Given the description of an element on the screen output the (x, y) to click on. 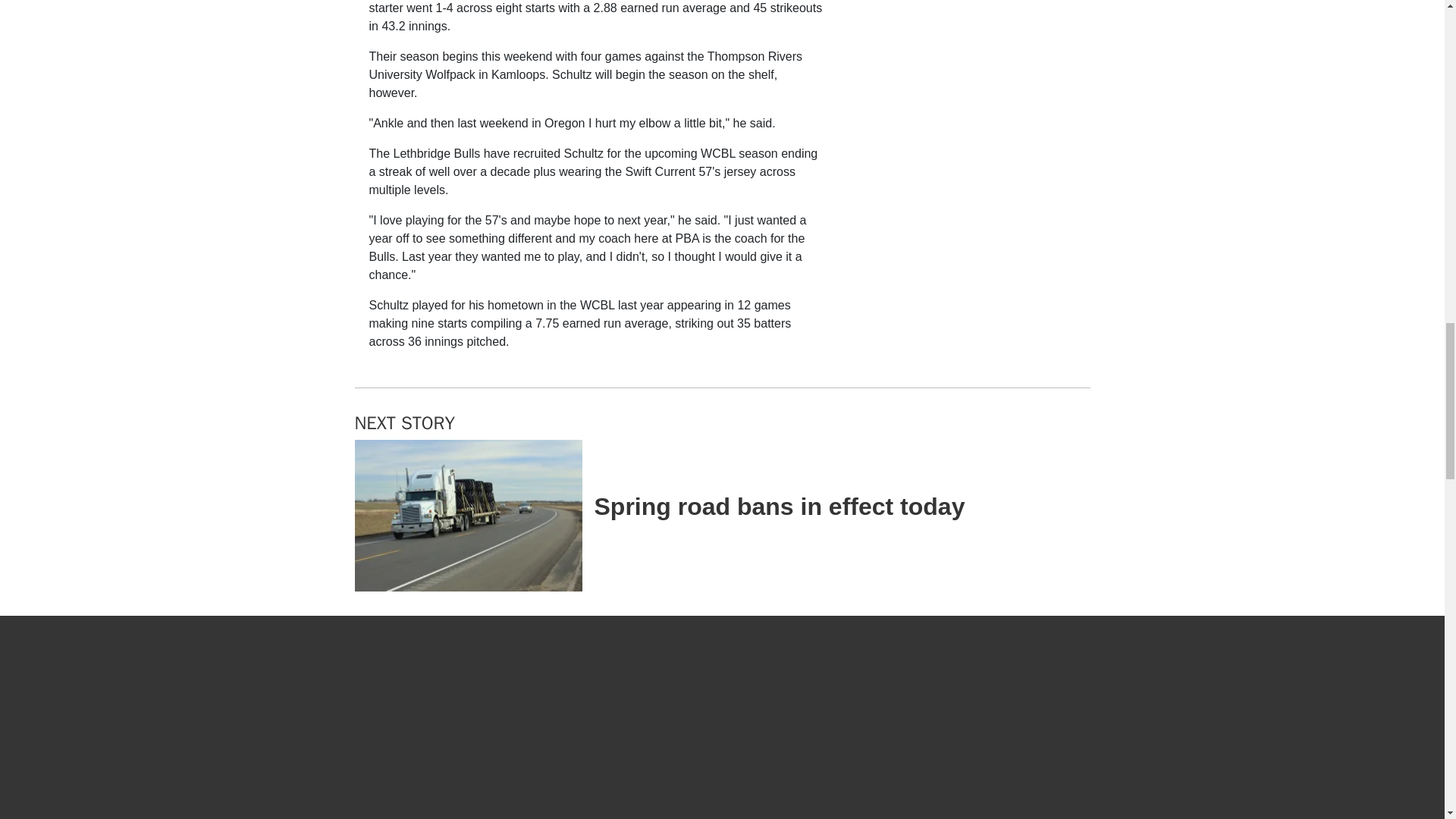
3rd party ad content (961, 10)
3rd party ad content (961, 268)
